Given the description of an element on the screen output the (x, y) to click on. 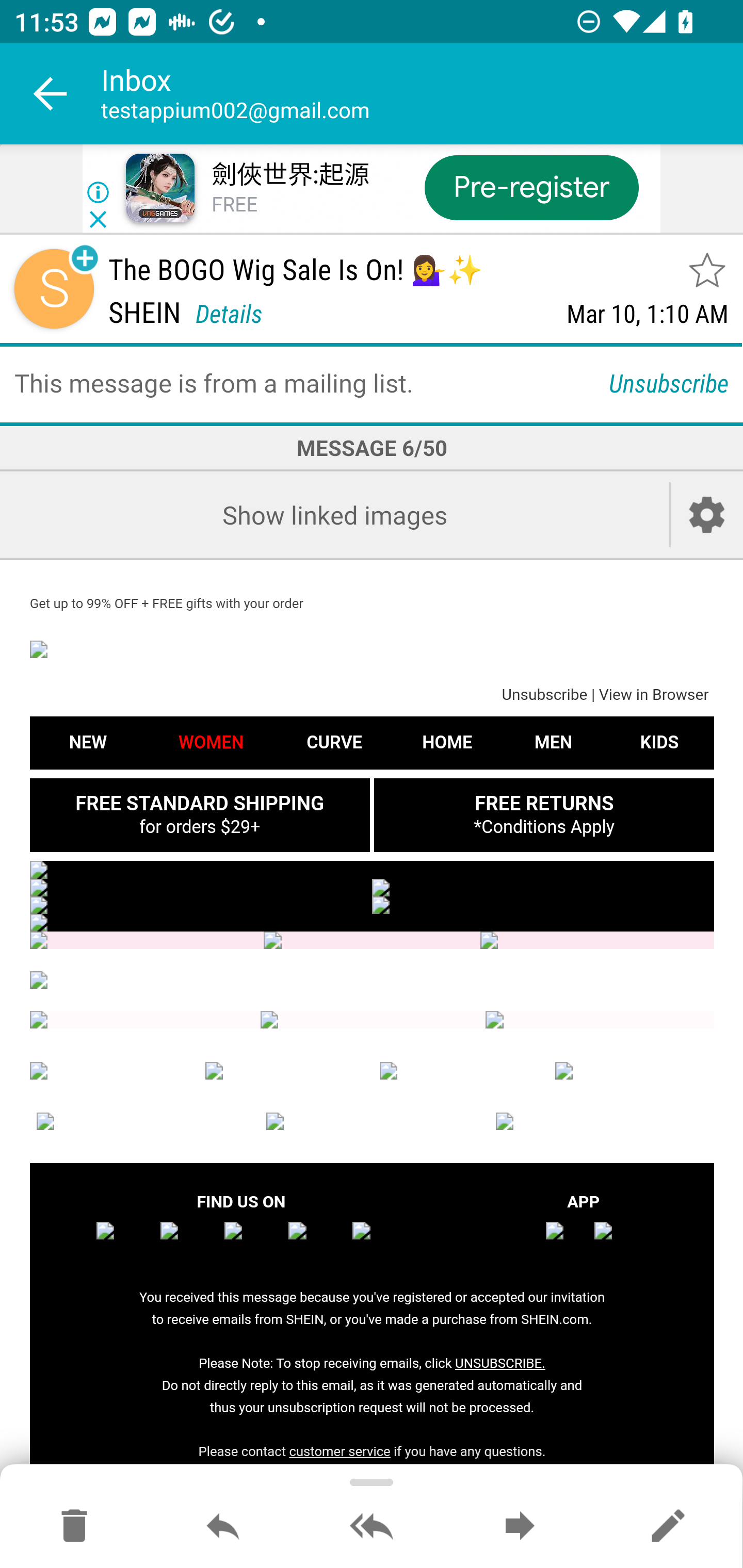
Navigate up (50, 93)
Inbox testappium002@gmail.com (422, 93)
Pre-register (530, 187)
劍俠世界:起源 (289, 175)
Sender contact button (53, 289)
Unsubscribe (668, 382)
Show linked images (334, 514)
Account setup (706, 514)
Get up to 99% OFF + FREE gifts with your order (166, 603)
SHEIN (371, 648)
Unsubscribe (544, 695)
View in Browser (653, 695)
NEW (88, 742)
WOMEN (210, 742)
CURVE (333, 742)
HOME (446, 742)
MEN (553, 742)
KIDS (659, 742)
FREE STANDARD SHIPPING (199, 802)
FREE RETURNS (543, 802)
for orders $29+ (199, 826)
*Conditions Apply (544, 826)
SHOP THE SALE (371, 869)
SHOP NOW (200, 887)
SHOP NOW (543, 887)
SHOP NOW (200, 905)
SHOP NOW (543, 905)
SHOP WIGS, GET GIFTS (371, 923)
Shop By Wig Type (146, 941)
Shop By Wig Type (371, 941)
Shop By Wig Type (596, 941)
JOIN THE COMMUNITY (371, 980)
Find Us On Social (144, 1020)
Find Us On Social (373, 1020)
Find Us On Social (598, 1020)
WOMEN (108, 1070)
CURVE (284, 1070)
MEN (458, 1070)
KIDS (634, 1070)
SHEIN CLUB (142, 1121)
CONTACT PREFERENCES (371, 1121)
SHEIN E-GIFT CARD (601, 1121)
facebook (125, 1242)
instagram (188, 1242)
twitter (253, 1242)
youtube (316, 1242)
pinterest (380, 1242)
apple (566, 1242)
google (615, 1242)
UNSUBSCRIBE. UNSUBSCRIBE . (499, 1363)
customer service (340, 1451)
Move to Deleted (74, 1527)
Reply (222, 1527)
Reply all (371, 1527)
Forward (519, 1527)
Reply as new (667, 1527)
